Given the description of an element on the screen output the (x, y) to click on. 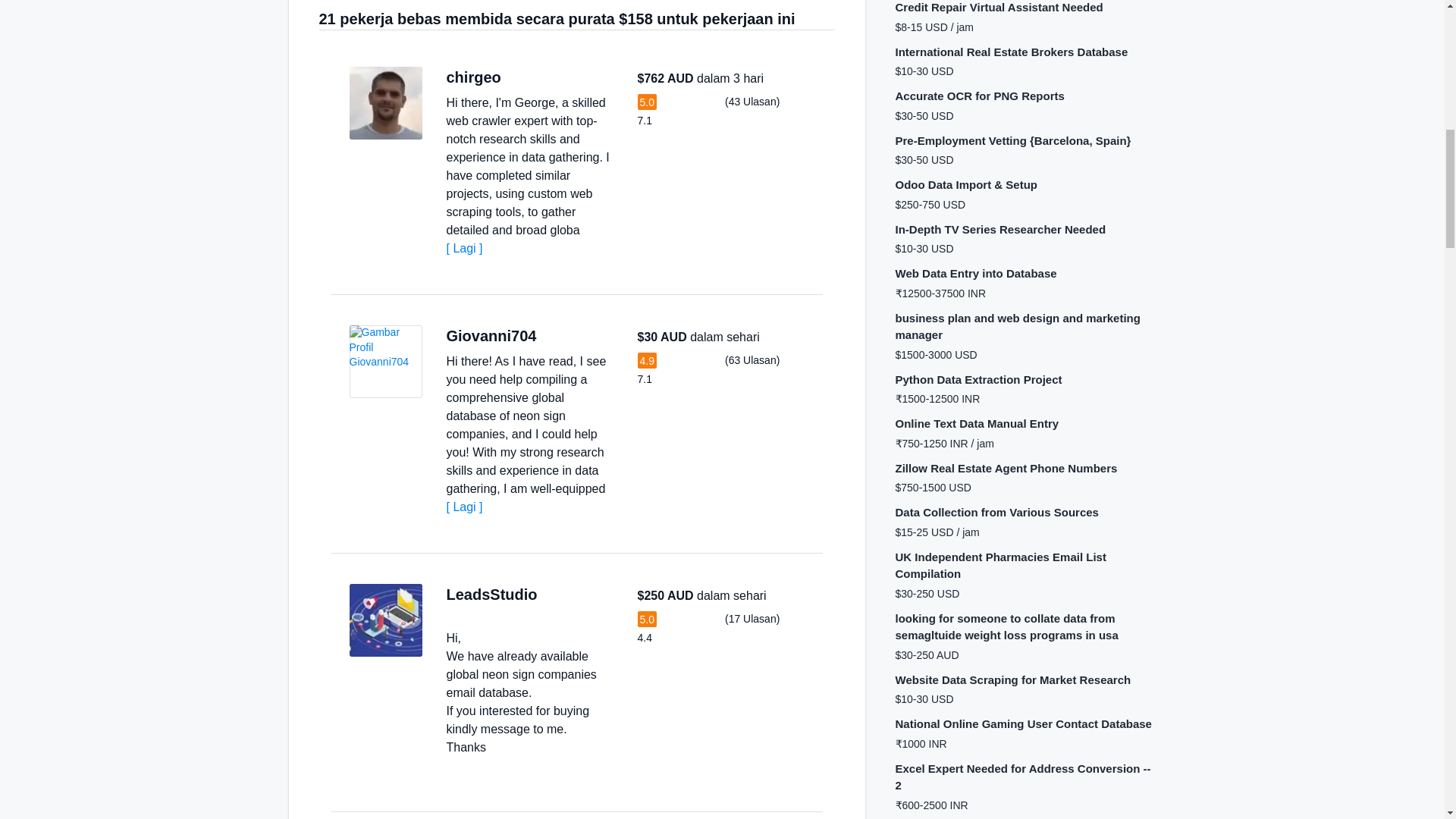
LeadsStudio (491, 594)
Pakistan (552, 594)
Lihat Profil LeadsStudio (385, 619)
Moldova, Republic of (517, 77)
Peru (551, 336)
Lagi (463, 506)
Lagi (463, 247)
Lihat Profil Giovanni704 (385, 361)
Lihat Profil chirgeo (385, 102)
Giovanni704 (490, 335)
